Given the description of an element on the screen output the (x, y) to click on. 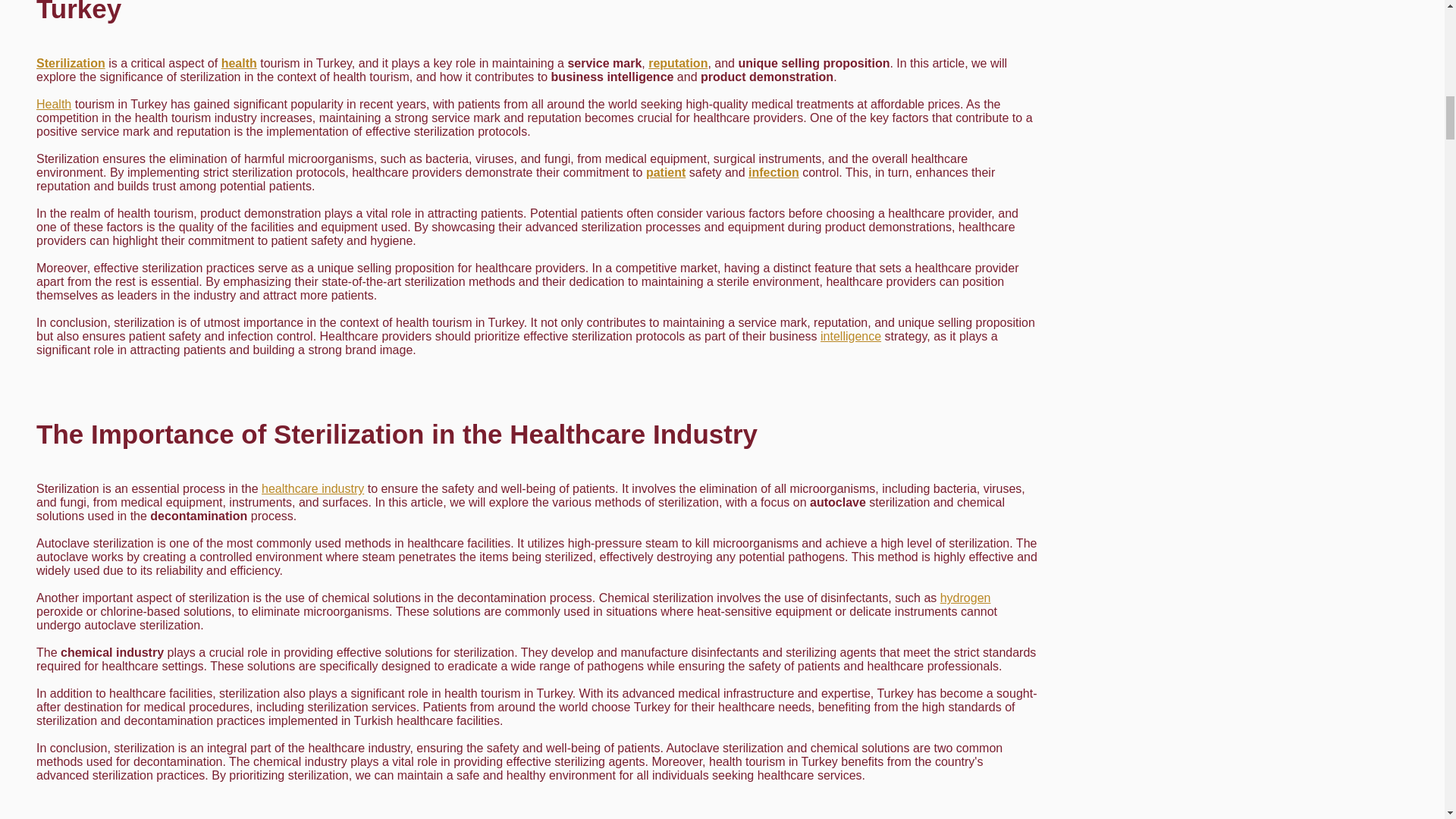
hydrogen (965, 597)
Health (53, 103)
intelligence (850, 336)
healthcare industry (313, 488)
